Given the description of an element on the screen output the (x, y) to click on. 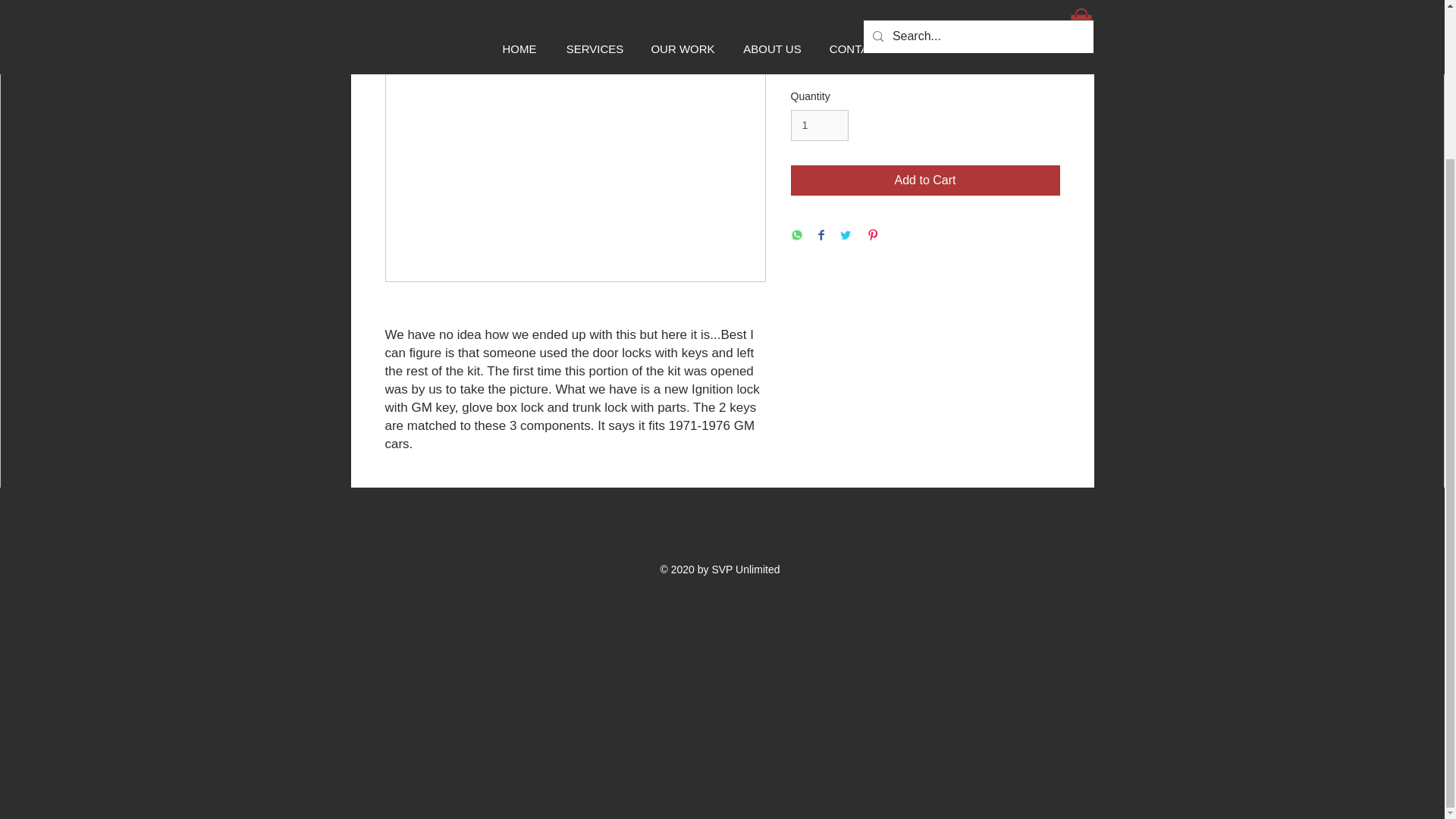
Add to Cart (924, 180)
1 (818, 124)
